Given the description of an element on the screen output the (x, y) to click on. 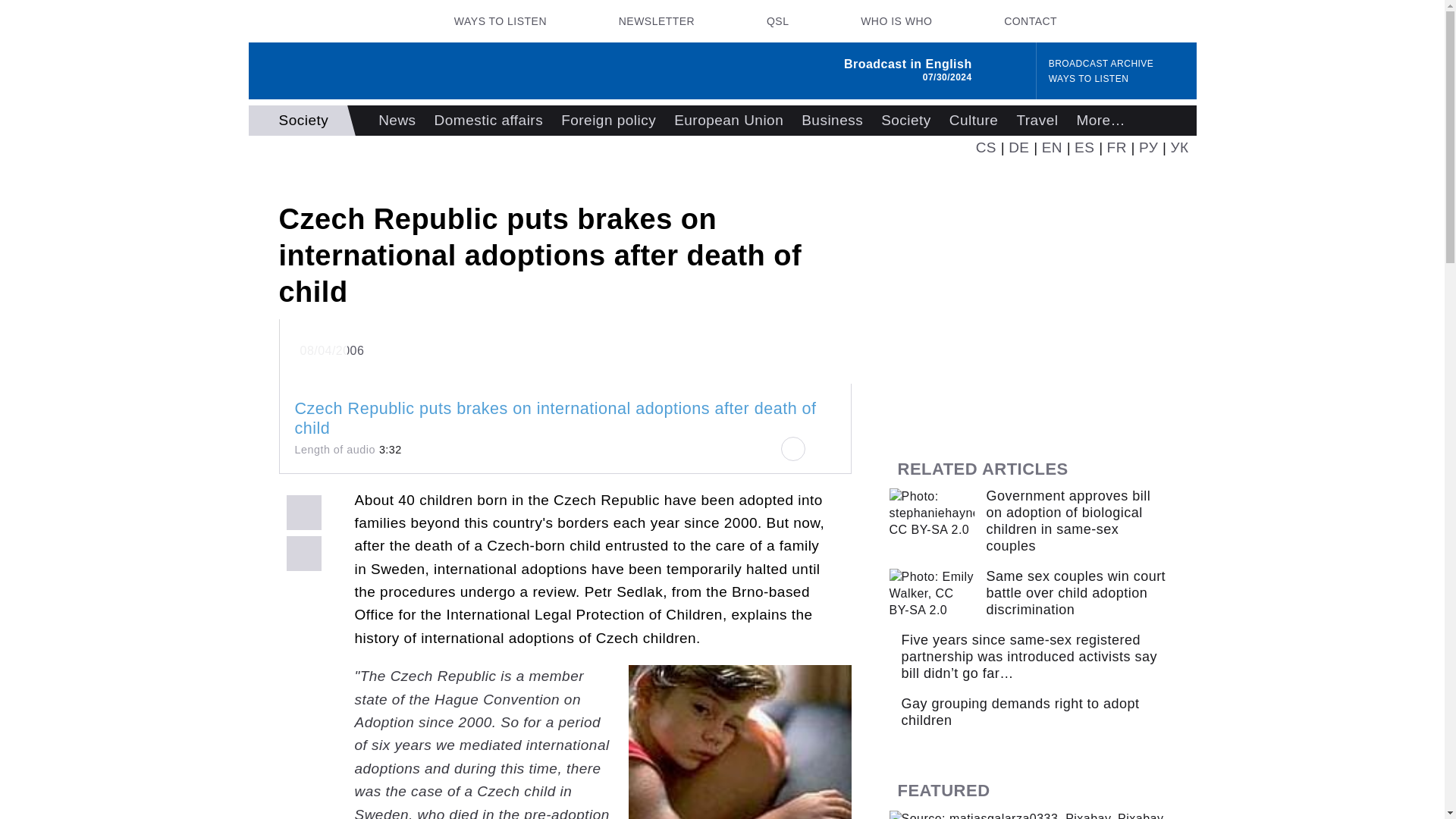
FR (1116, 147)
ES (1084, 147)
WHO IS WHO (896, 21)
WAYS TO LISTEN (1088, 78)
QSL (777, 21)
EN (1052, 147)
Czech Radio (324, 21)
News (397, 120)
Culture (973, 120)
Travel (1037, 120)
CONTACT (1029, 21)
Broadcast in English  (908, 63)
DE (1019, 147)
Business (832, 120)
